Given the description of an element on the screen output the (x, y) to click on. 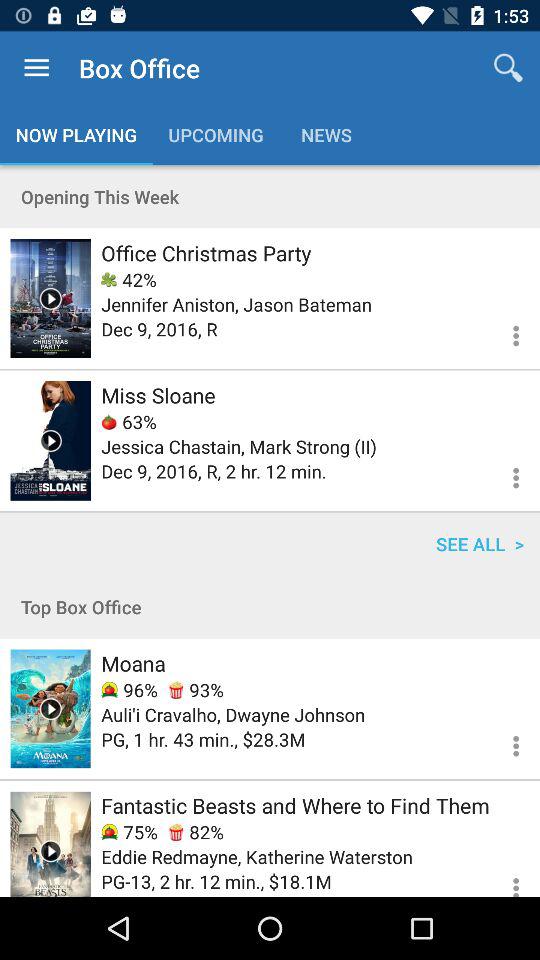
more options (503, 475)
